Given the description of an element on the screen output the (x, y) to click on. 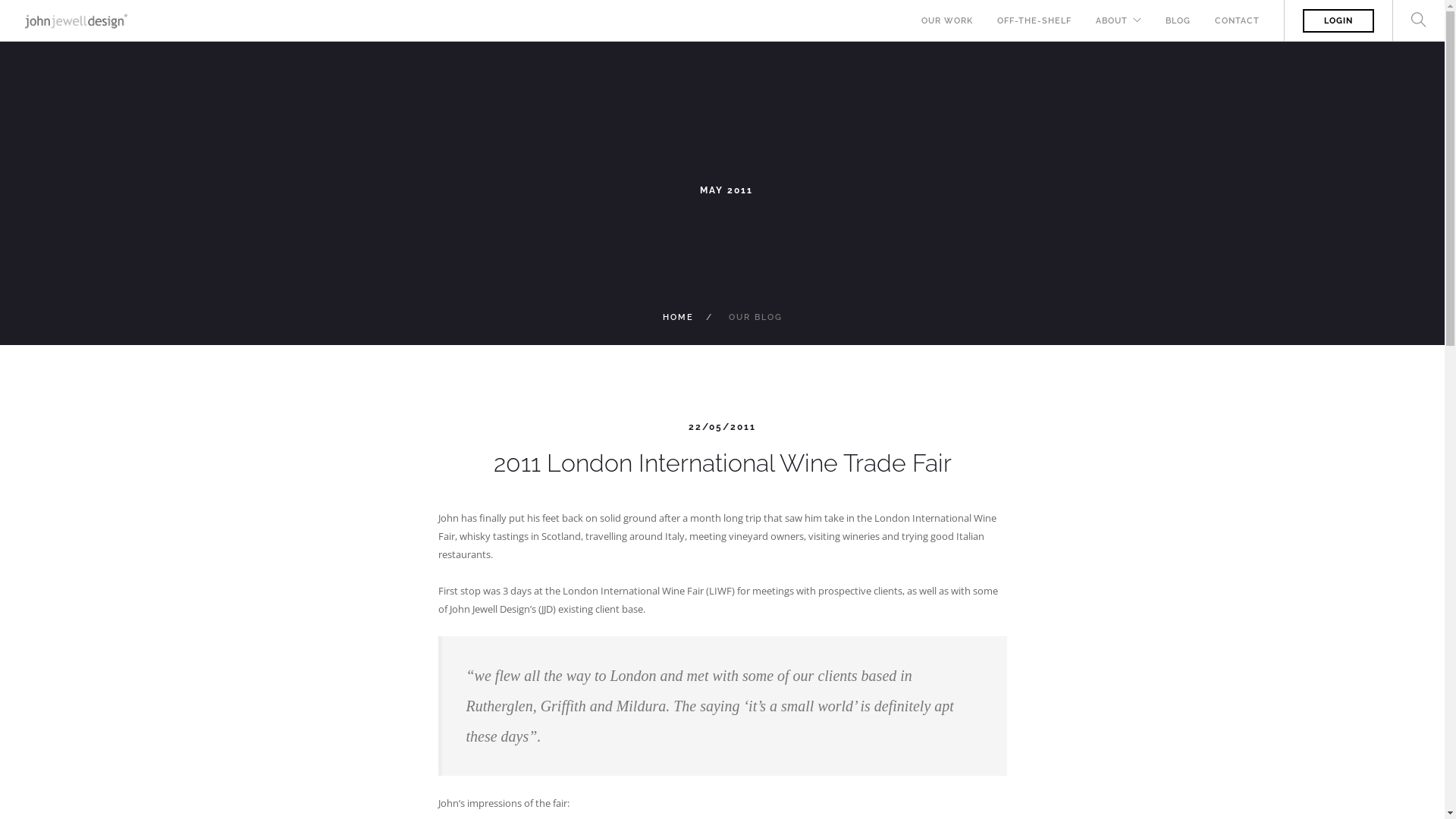
LOGIN Element type: text (1338, 20)
2011 London International Wine Trade Fair Element type: text (721, 462)
OUR WORK Element type: text (946, 21)
BLOG Element type: text (1177, 21)
CONTACT Element type: text (1236, 21)
OFF-THE-SHELF Element type: text (1034, 21)
ABOUT Element type: text (1111, 21)
HOME Element type: text (677, 317)
